Given the description of an element on the screen output the (x, y) to click on. 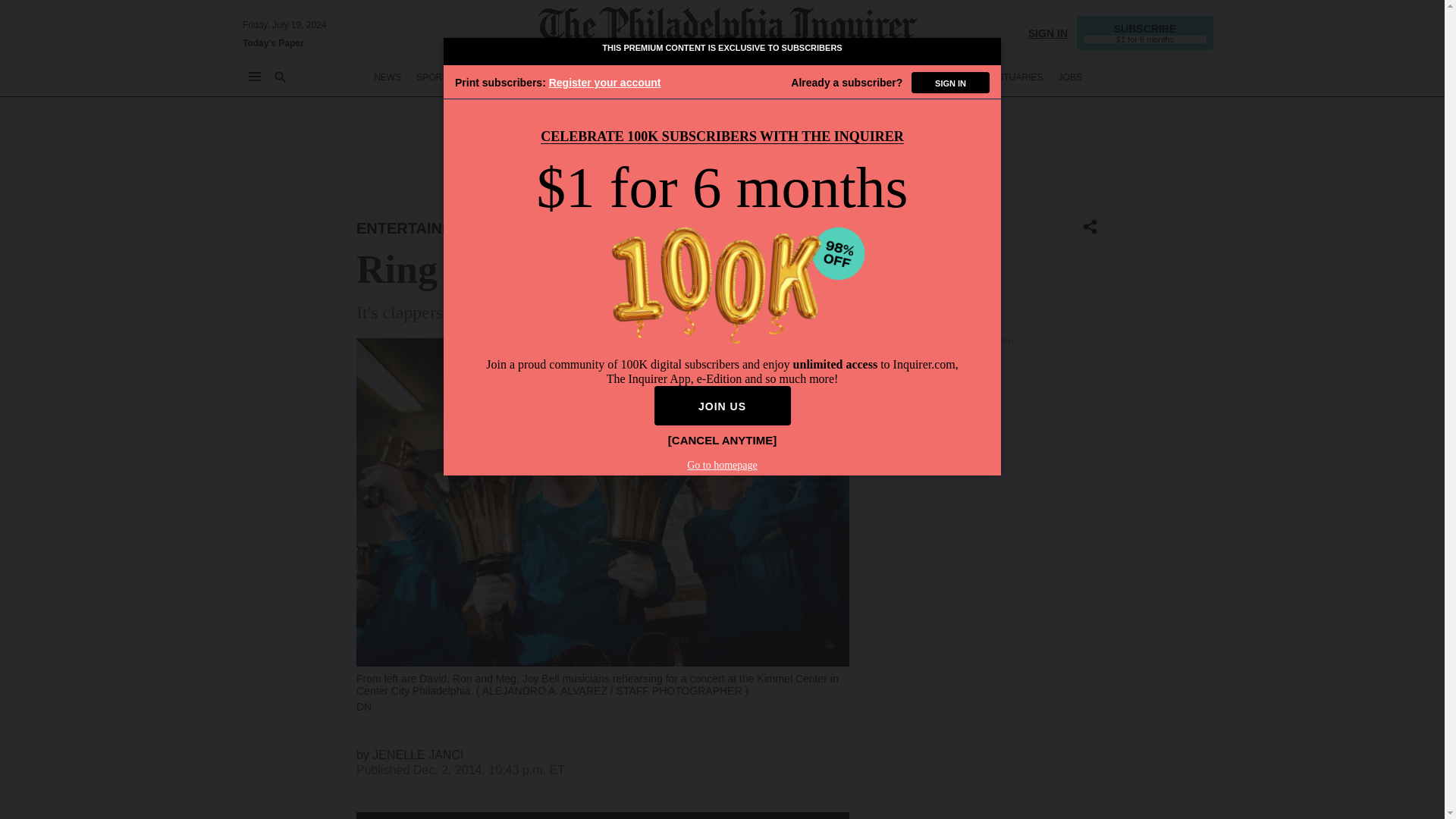
MUSIC (530, 227)
Share Icon (1090, 226)
SUBSCRIBE (1144, 32)
ENTERTAINMENT (420, 227)
SPORTS (434, 77)
FOOD (834, 77)
SIGN IN (1047, 32)
Today's Paper (273, 42)
OBITUARIES (1015, 77)
LIFE (795, 77)
ENTERTAINMENT (732, 77)
POLITICS (659, 77)
Share Icon (1090, 227)
JOBS (1069, 77)
BUSINESS (545, 77)
